Given the description of an element on the screen output the (x, y) to click on. 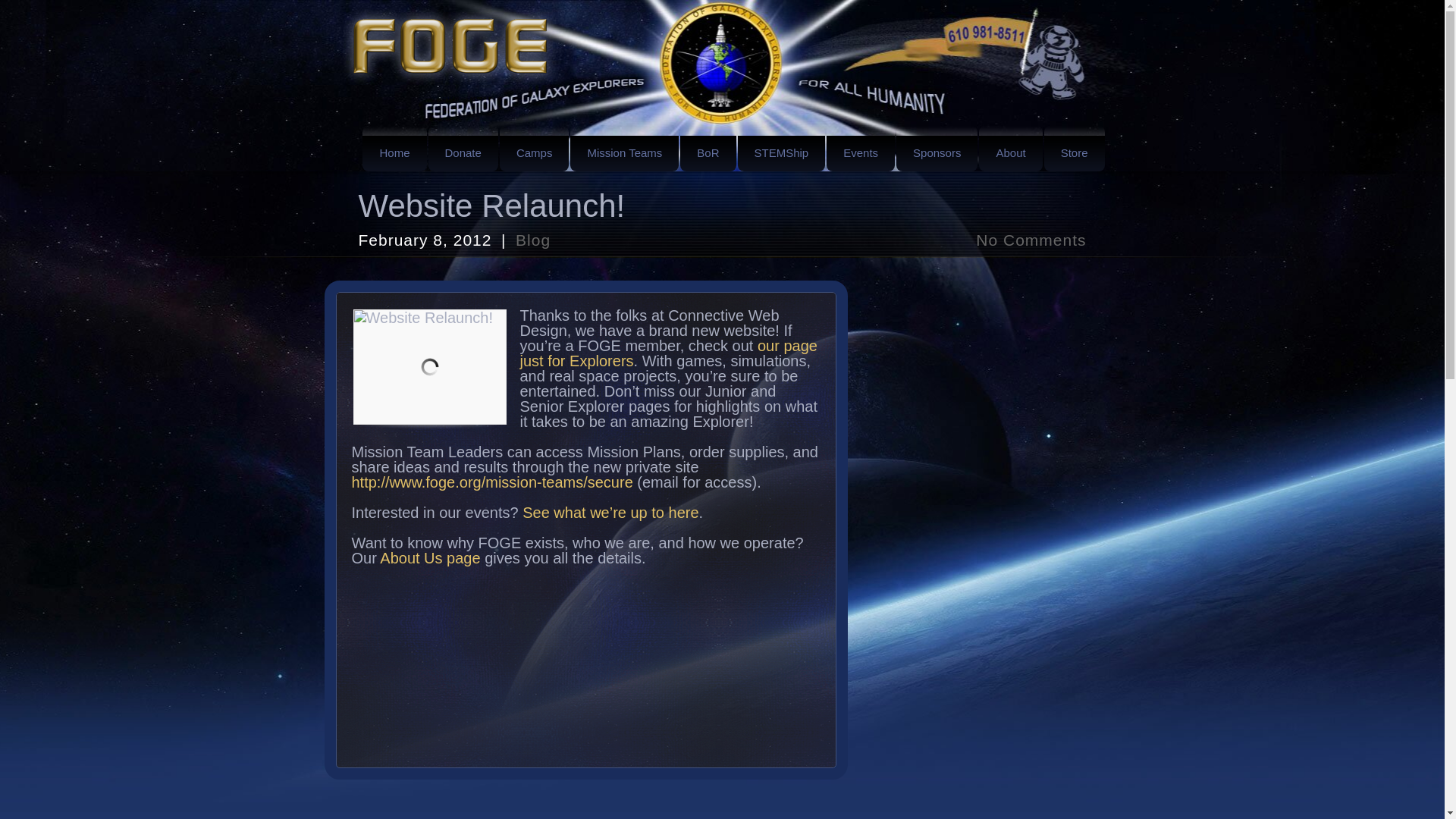
Home (394, 148)
Events (861, 148)
No Comments (1030, 239)
Blog (532, 239)
Mission Teams (624, 148)
About (1010, 148)
Camps (534, 148)
our page just for Explorers (667, 353)
Sponsors (936, 148)
Store (1074, 148)
About Us (430, 557)
STEMShip (780, 148)
About Us page (430, 557)
Explorers Only (667, 353)
BoR (707, 148)
